Given the description of an element on the screen output the (x, y) to click on. 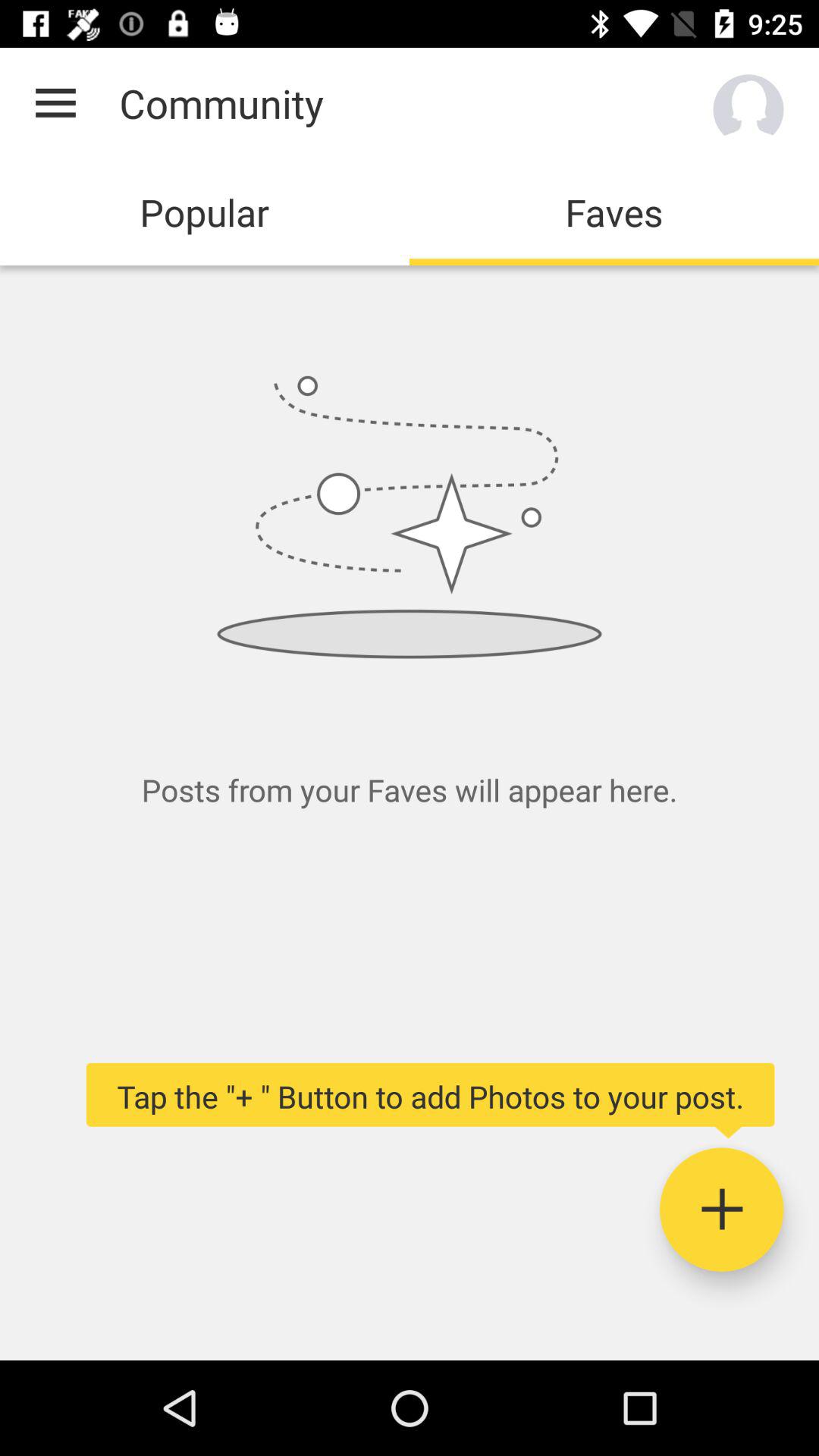
tap the app next to the community icon (55, 103)
